Given the description of an element on the screen output the (x, y) to click on. 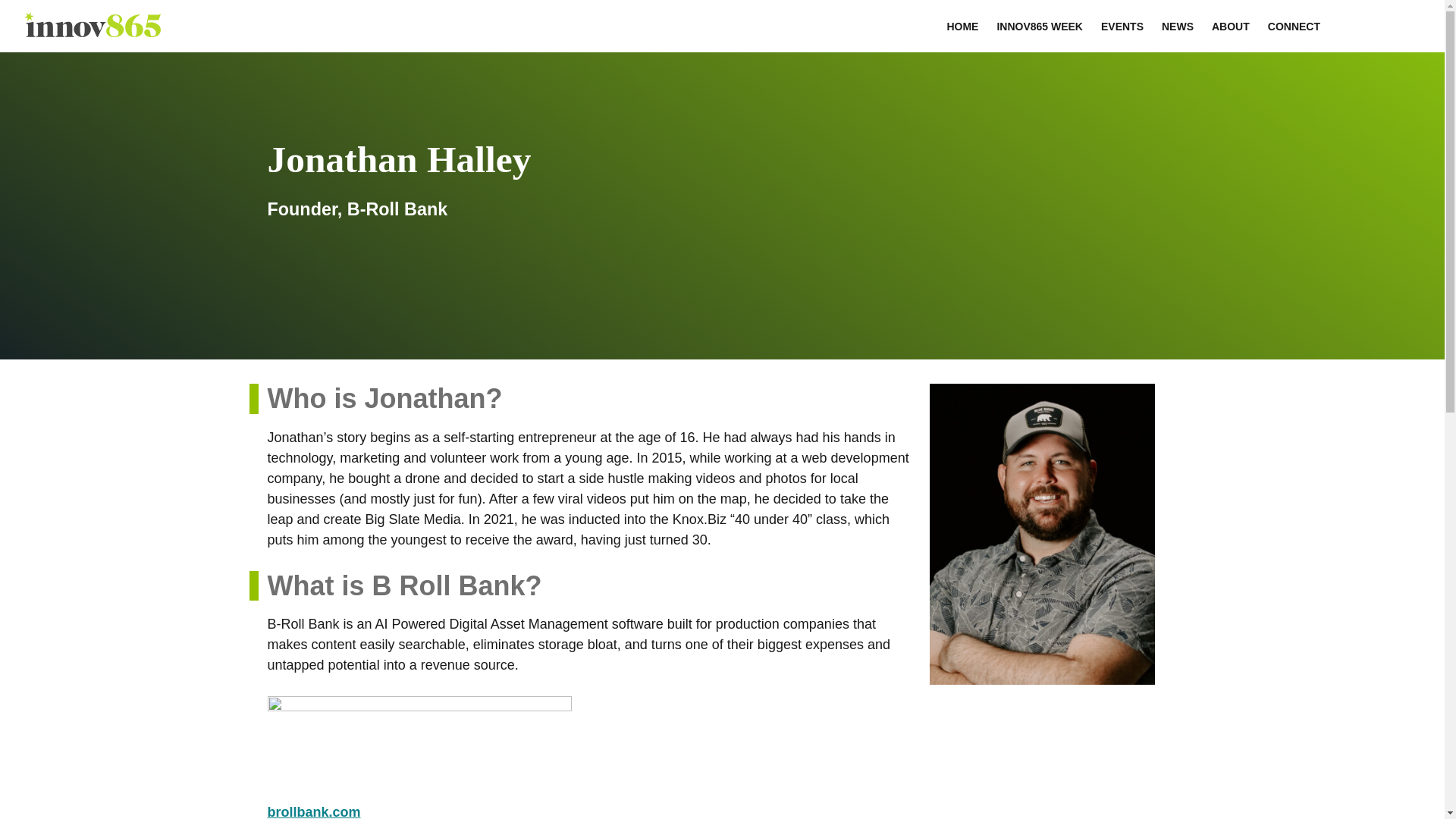
CONNECT (1294, 26)
brollbank.com (312, 811)
LINKEDIN (1374, 21)
EVENTS (1122, 26)
INNOV865 WEEK (1039, 26)
NEWS (1177, 26)
INSTAGRAM (1356, 21)
HOME (962, 26)
TWITTER (1393, 21)
YOUTUBE (1411, 21)
